Given the description of an element on the screen output the (x, y) to click on. 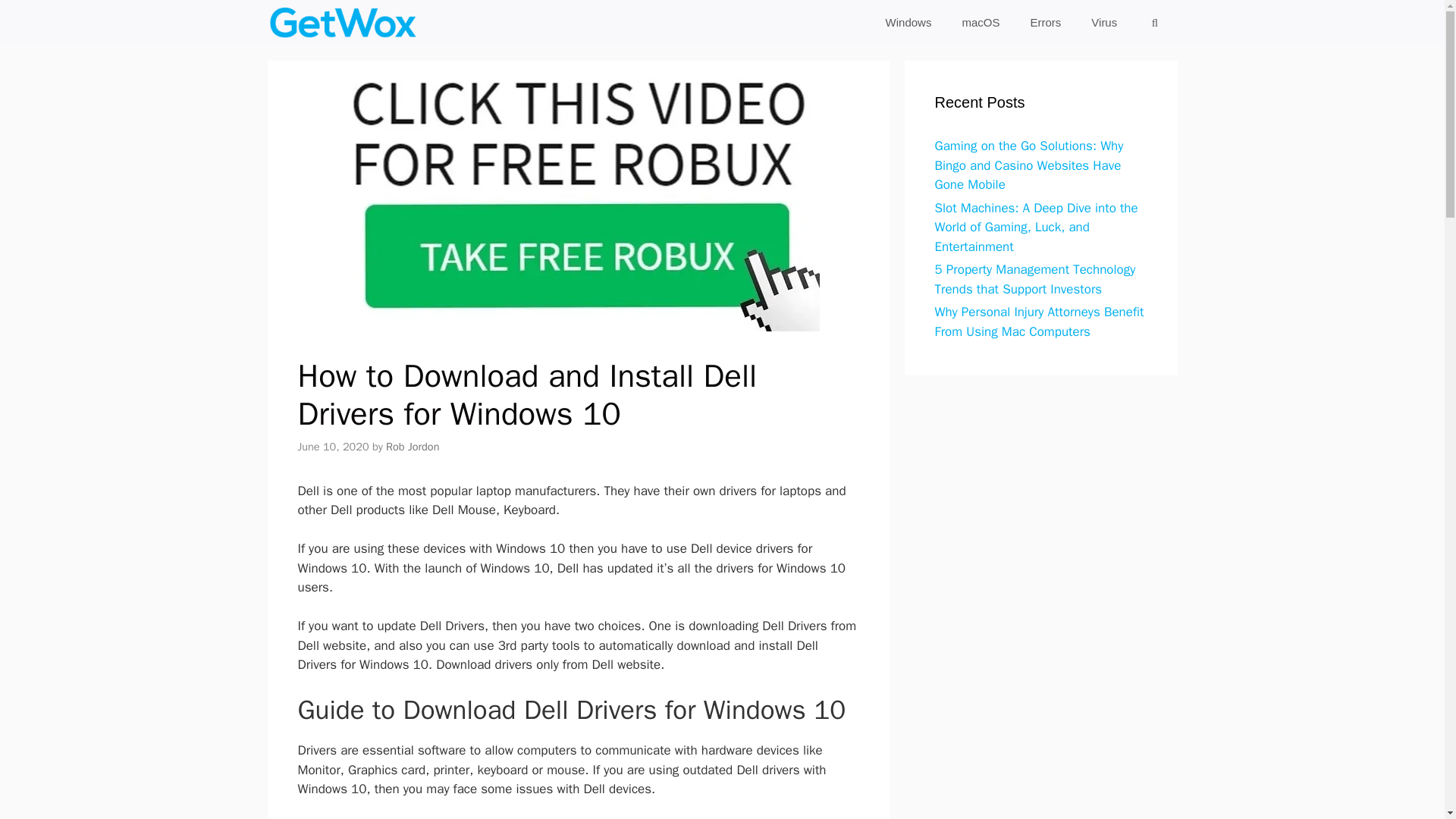
Errors (1044, 22)
GetWox (341, 22)
Rob Jordon (412, 446)
macOS (980, 22)
View all posts by Rob Jordon (412, 446)
Windows (908, 22)
Virus (1103, 22)
